Given the description of an element on the screen output the (x, y) to click on. 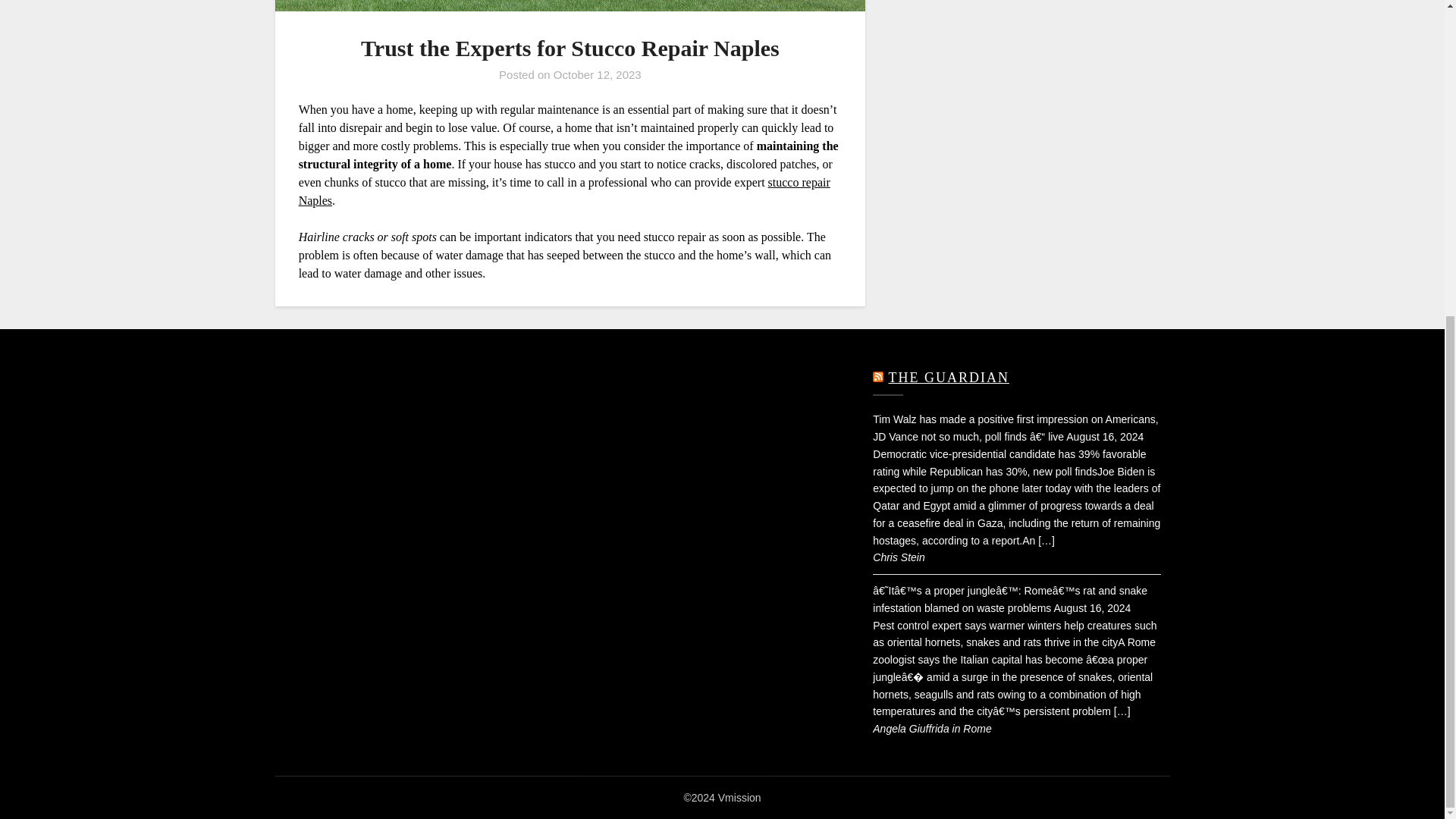
stucco repair Naples (563, 191)
THE GUARDIAN (948, 377)
October 12, 2023 (597, 74)
